Given the description of an element on the screen output the (x, y) to click on. 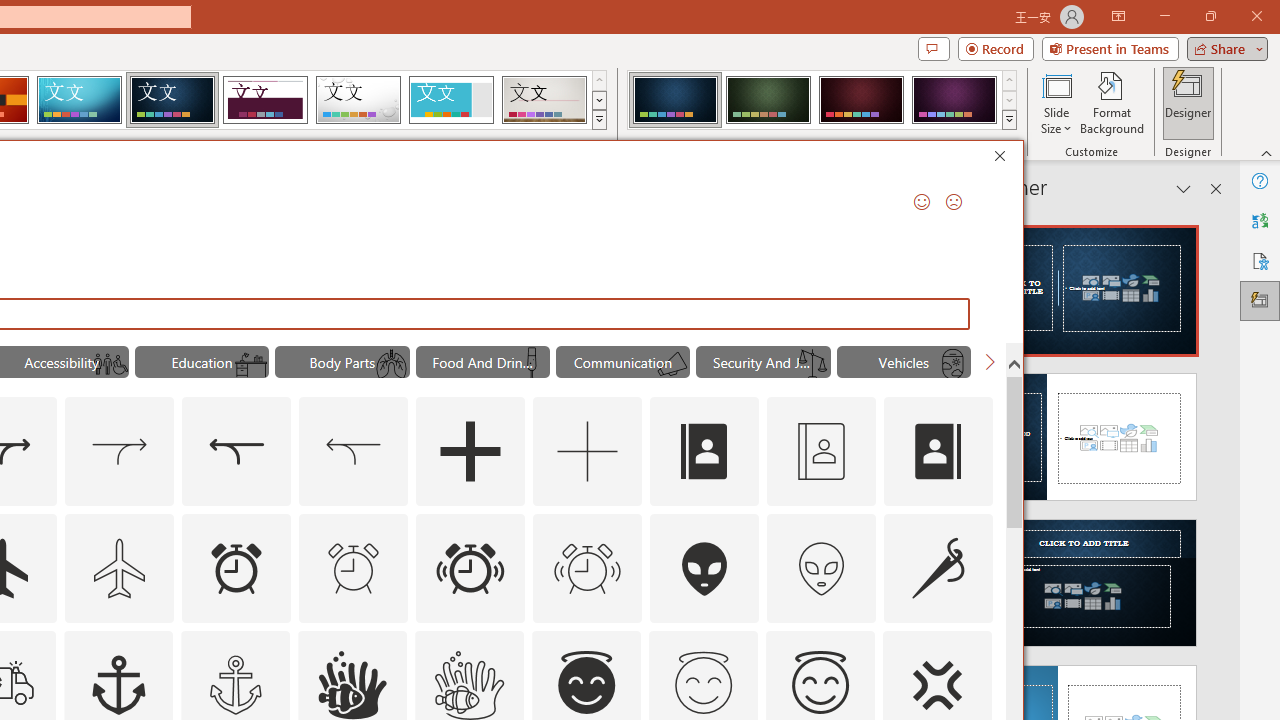
Damask Variant 4 (953, 100)
Circuit (79, 100)
Gallery (544, 100)
AutomationID: Icons_WeightsUneven1_M (812, 364)
AutomationID: _134_Angel_Face_A (586, 682)
Dividend (265, 100)
Frame (450, 100)
Format Background (1111, 102)
AutomationID: Icons_Megaphone_M (671, 364)
